Given the description of an element on the screen output the (x, y) to click on. 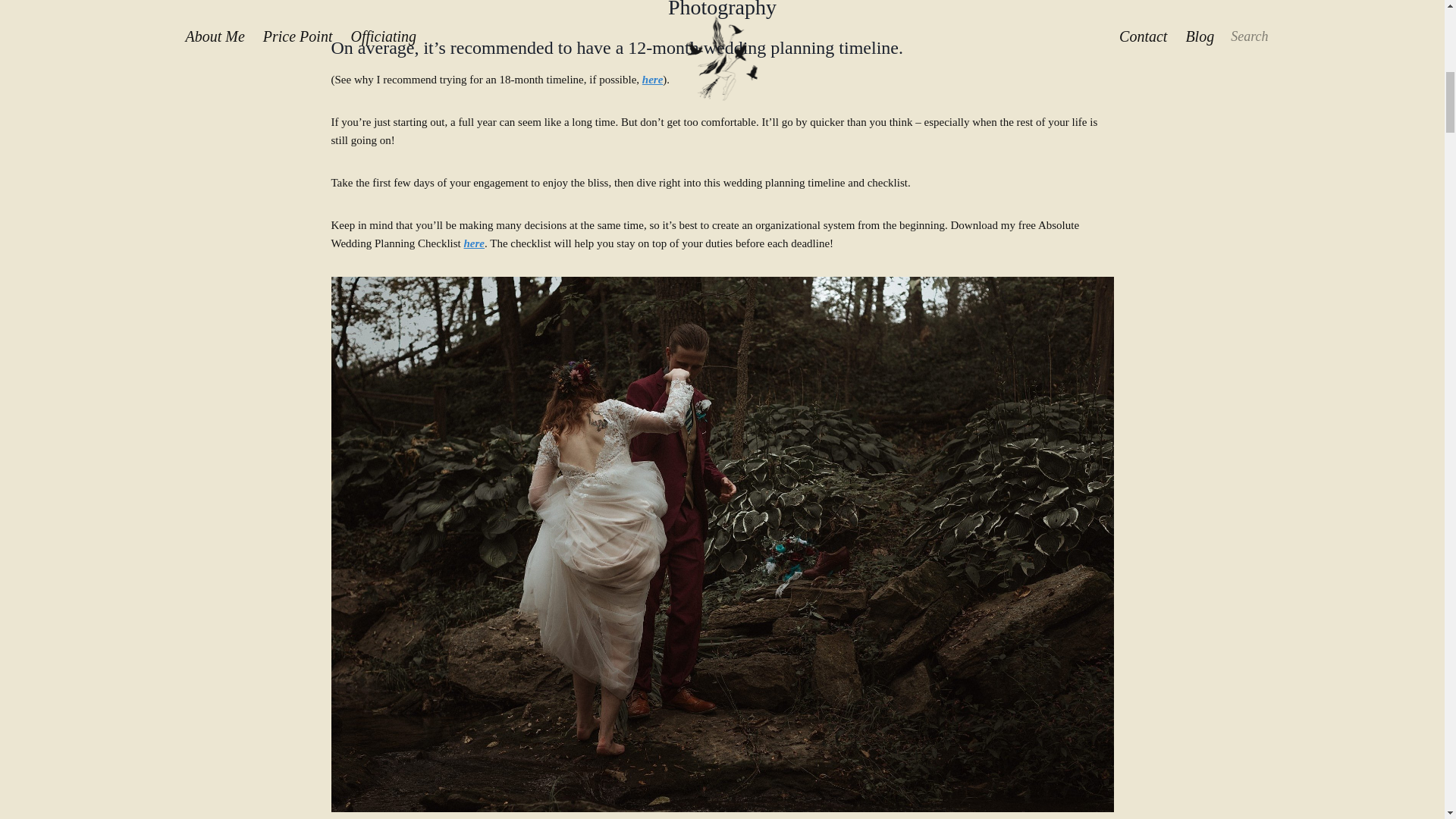
here (474, 243)
here (652, 79)
